Given the description of an element on the screen output the (x, y) to click on. 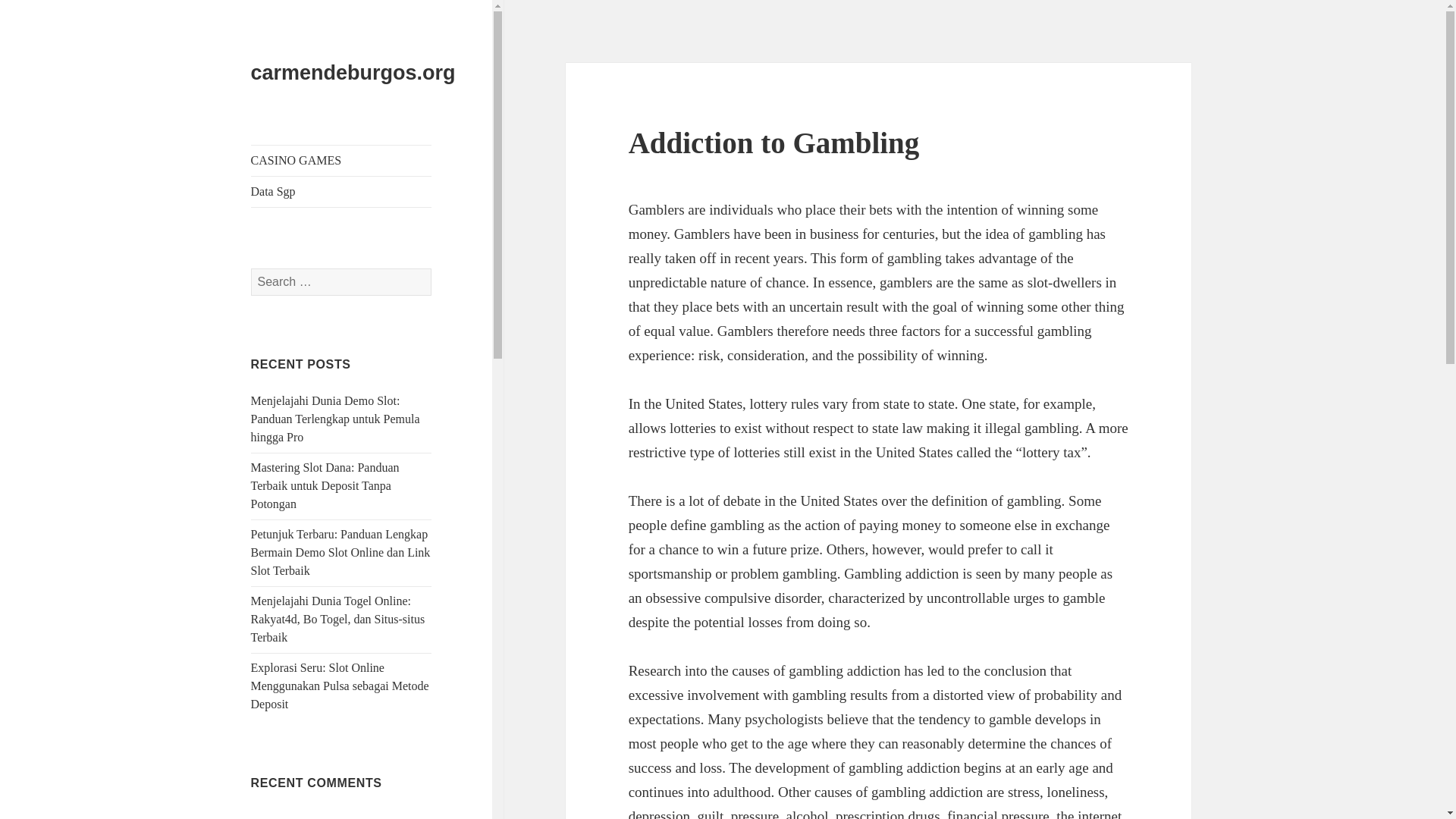
carmendeburgos.org (352, 72)
Data Sgp (341, 191)
CASINO GAMES (341, 160)
